Given the description of an element on the screen output the (x, y) to click on. 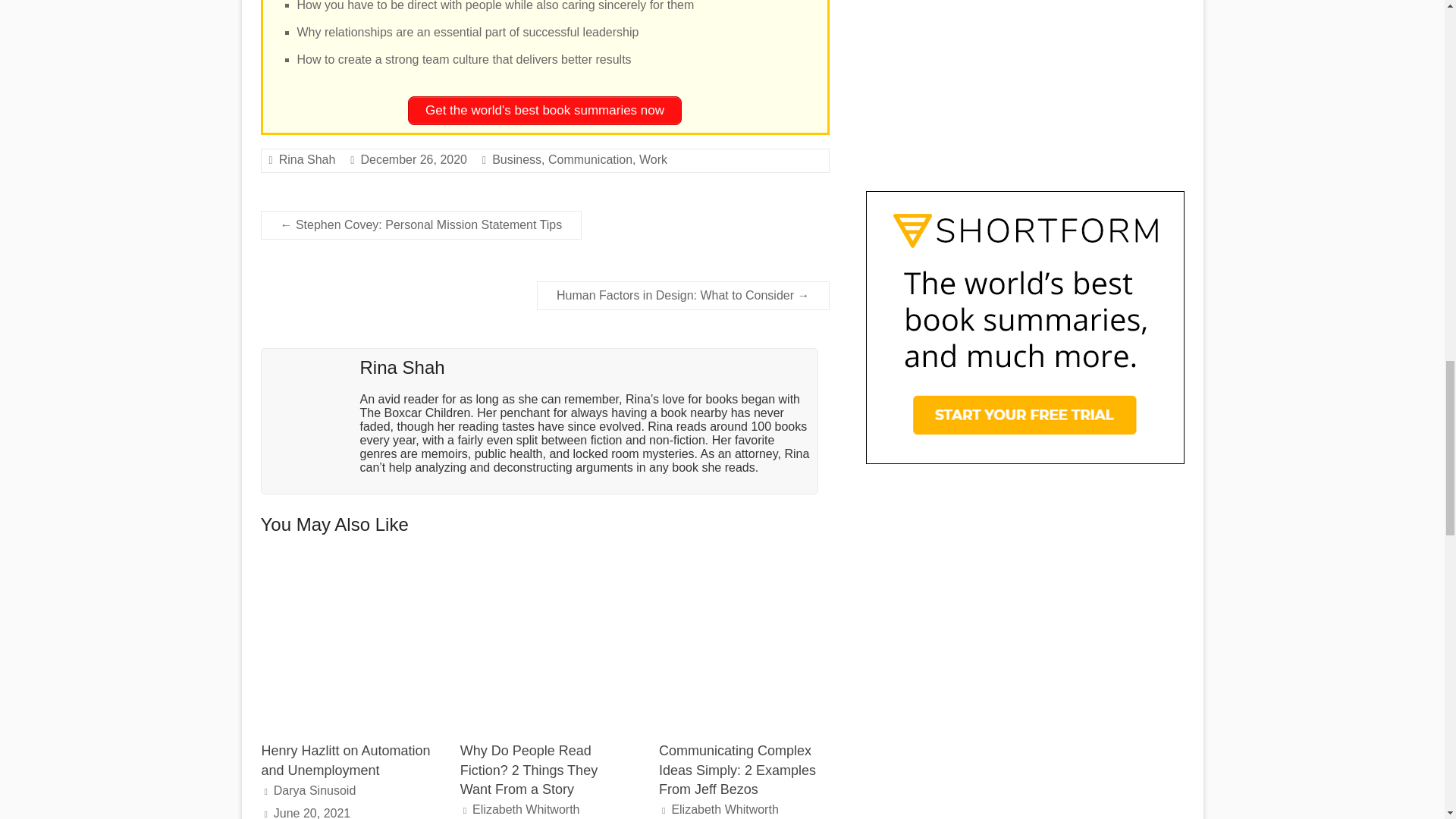
Darya Sinusoid (314, 789)
Henry Hazlitt on Automation and Unemployment (344, 759)
Why Do People Read Fiction? 2 Things They Want From a Story (545, 565)
Henry Hazlitt on Automation and Unemployment (345, 643)
Communication (589, 159)
June 20, 2021 (311, 812)
Why Do People Read Fiction? 2 Things They Want From a Story (545, 643)
December 26, 2020 (413, 159)
Elizabeth Whitworth (724, 809)
Work (652, 159)
Rina Shah (307, 159)
Henry Hazlitt on Automation and Unemployment (345, 565)
